Given the description of an element on the screen output the (x, y) to click on. 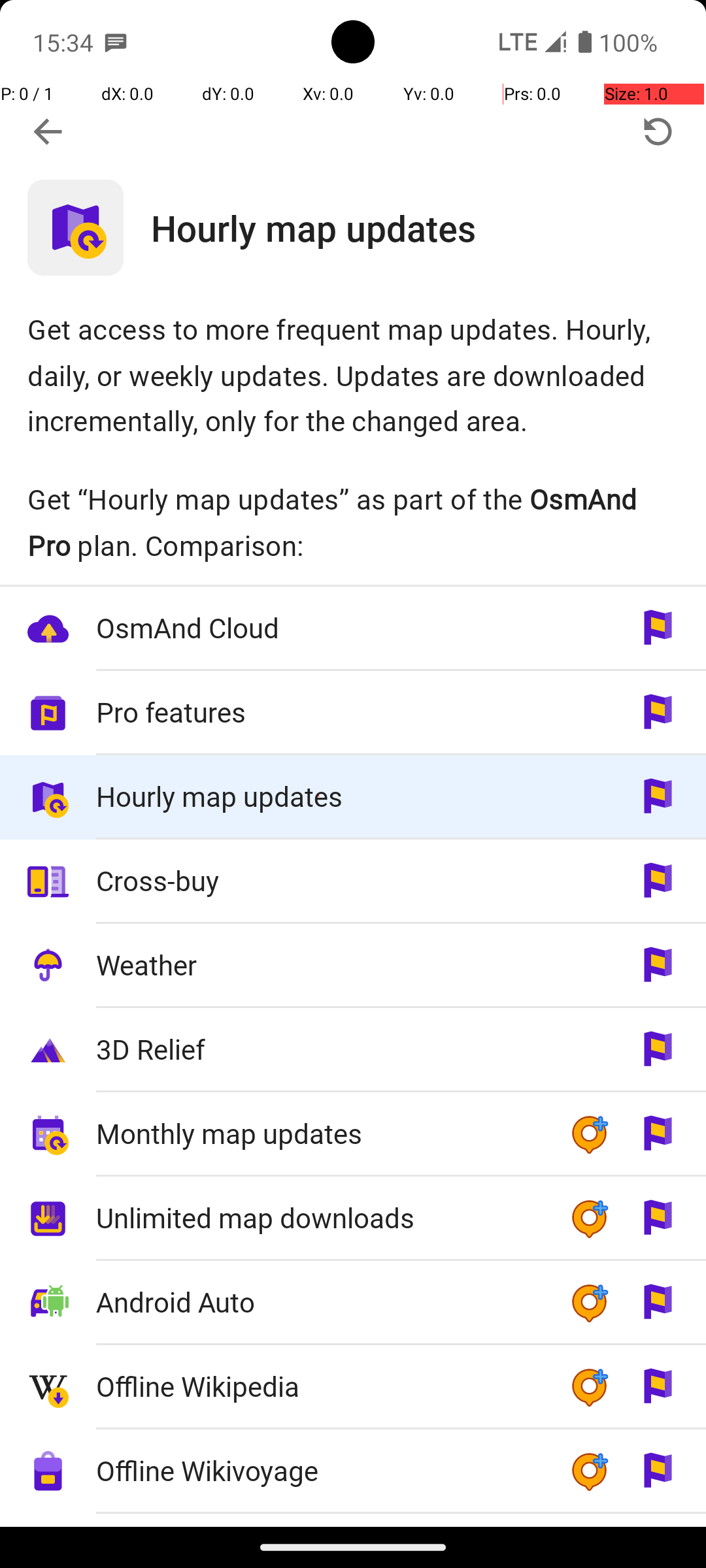
Hourly map updates Element type: android.widget.TextView (428, 227)
Restore purchases Element type: android.widget.ImageButton (657, 131)
Get access to more frequent map updates. Hourly, daily, or weekly updates. Updates are downloaded incrementally, only for the changed area. Element type: android.widget.TextView (353, 374)
Get “Hourly map updates” as part of the OsmAnd Pro plan. Comparison: Element type: android.widget.TextView (353, 521)
OsmAnd Cloud available as part of the OsmAnd Pro plan Element type: android.widget.LinearLayout (353, 628)
Pro features available as part of the OsmAnd Pro plan Element type: android.widget.LinearLayout (353, 712)
Hourly map updates available as part of the OsmAnd Pro plan Element type: android.widget.LinearLayout (353, 797)
Cross-buy available as part of the OsmAnd Pro plan Element type: android.widget.LinearLayout (353, 881)
Weather available as part of the OsmAnd Pro plan Element type: android.widget.LinearLayout (353, 965)
3D Relief available as part of the OsmAnd Pro plan Element type: android.widget.LinearLayout (353, 1050)
Monthly map updates available as part of the OsmAnd+ or OsmAnd Pro plan Element type: android.widget.LinearLayout (353, 1134)
Unlimited map downloads available as part of the OsmAnd+ or OsmAnd Pro plan Element type: android.widget.LinearLayout (353, 1218)
Android Auto available as part of the OsmAnd+ or OsmAnd Pro plan Element type: android.widget.LinearLayout (353, 1302)
Offline Wikipedia available as part of the OsmAnd+ or OsmAnd Pro plan Element type: android.widget.LinearLayout (353, 1387)
Offline Wikivoyage available as part of the OsmAnd+ or OsmAnd Pro plan Element type: android.widget.LinearLayout (353, 1471)
External sensors support available as part of the OsmAnd+ or OsmAnd Pro plan Element type: android.widget.LinearLayout (353, 1519)
OsmAnd Cloud Element type: android.widget.TextView (318, 627)
Pro features Element type: android.widget.TextView (318, 711)
Cross-buy Element type: android.widget.TextView (318, 879)
Weather Element type: android.widget.TextView (318, 964)
3D Relief Element type: android.widget.TextView (318, 1048)
Monthly map updates Element type: android.widget.TextView (318, 1132)
Unlimited map downloads Element type: android.widget.TextView (318, 1217)
Offline Wikipedia Element type: android.widget.TextView (318, 1385)
Offline Wikivoyage Element type: android.widget.TextView (318, 1469)
External sensors support Element type: android.widget.TextView (318, 1520)
